Given the description of an element on the screen output the (x, y) to click on. 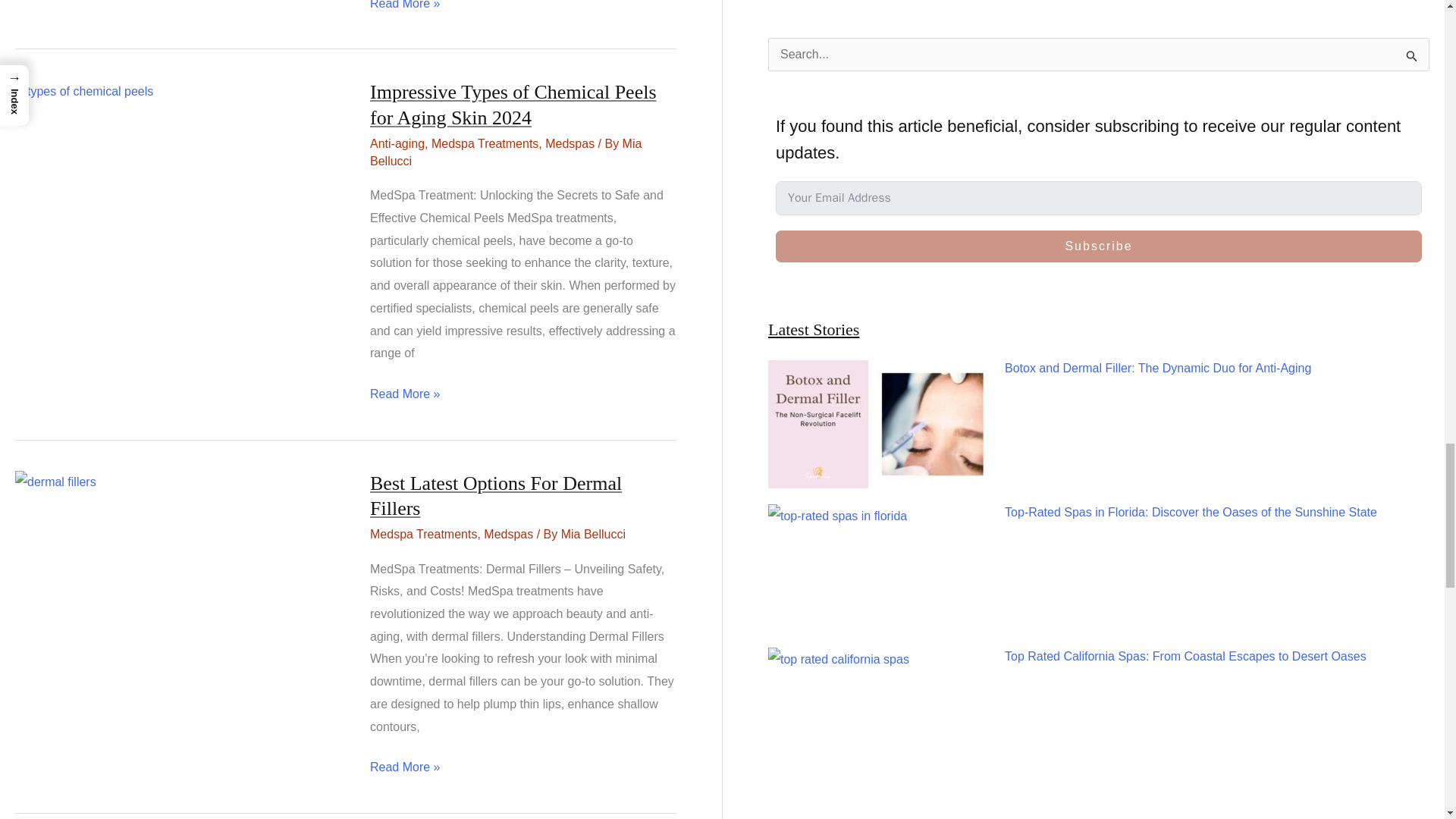
BEST LATEST OPTIONS FOR DERMAL FILLERS 8 (55, 481)
View all posts by Mia Bellucci (505, 152)
IMPRESSIVE TYPES OF CHEMICAL PEELS FOR AGING SKIN 2024 7 (83, 91)
